Given the description of an element on the screen output the (x, y) to click on. 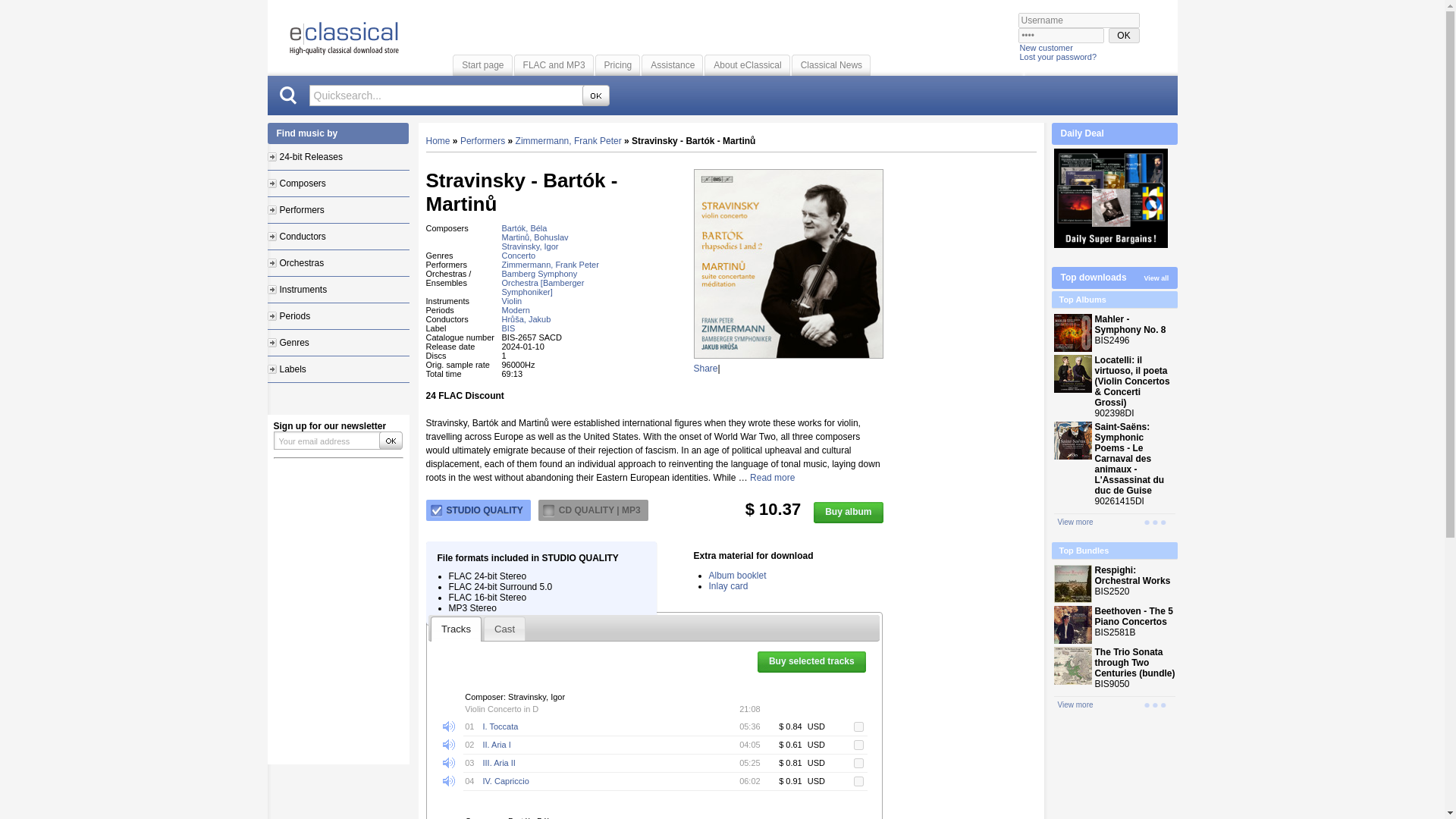
Preview this track (453, 780)
OK (596, 95)
Composers (295, 183)
5110407 (858, 763)
Preview this track (453, 726)
II. Aria I (496, 744)
Concerto (518, 255)
Labels (285, 368)
Click to download Inlay card (727, 585)
Orchestras (294, 262)
Classical News (830, 64)
New customer (1045, 46)
Violin (512, 300)
Pricing (617, 64)
Violin Concerto in D (501, 708)
